Given the description of an element on the screen output the (x, y) to click on. 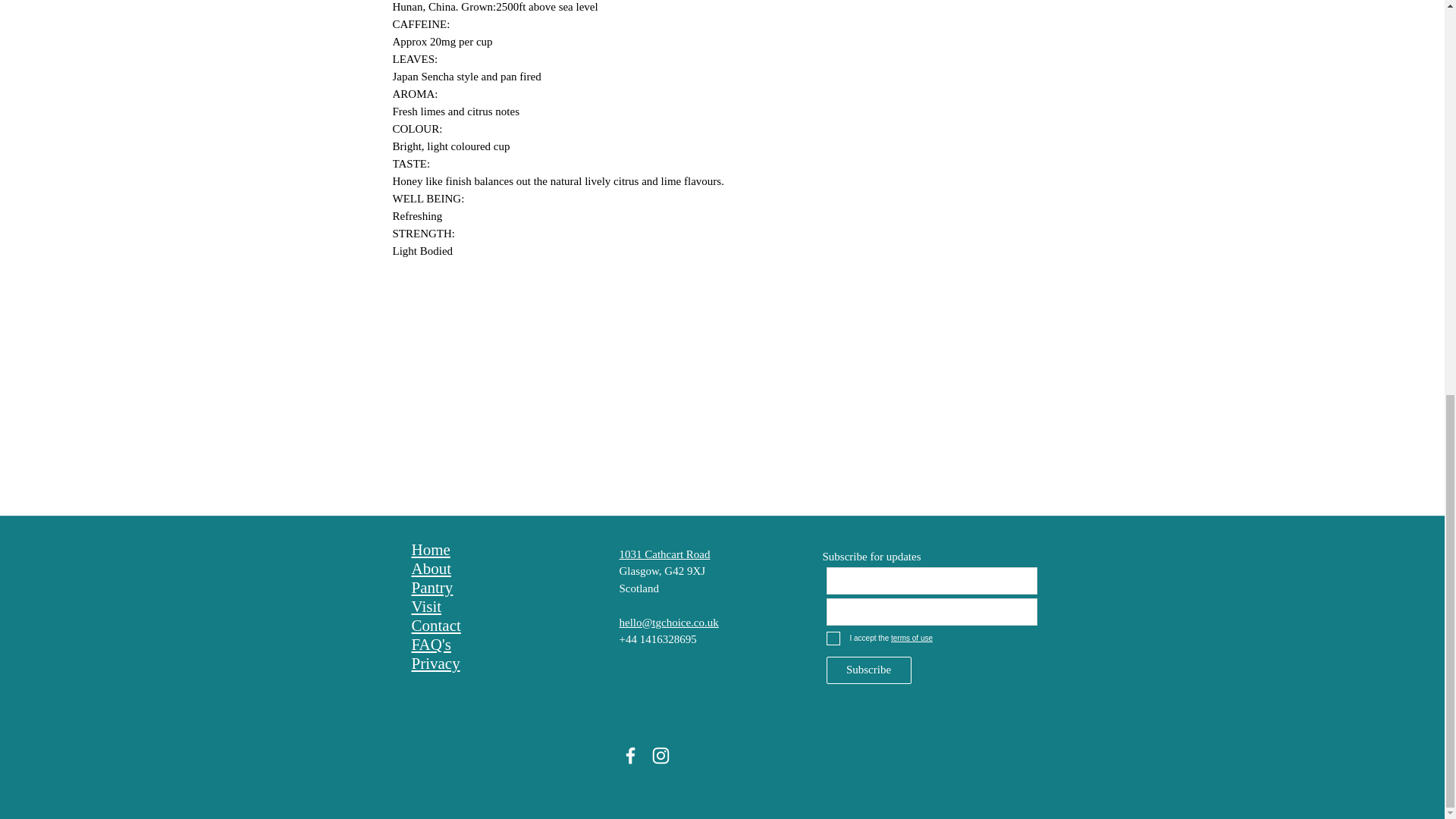
Pantry (431, 587)
FAQ's (429, 643)
Home (429, 548)
About (430, 568)
terms of use (910, 637)
Contact (435, 624)
1031 Cathcart Road (664, 553)
Privacy (435, 662)
Subscribe (869, 669)
Visit (425, 606)
